Given the description of an element on the screen output the (x, y) to click on. 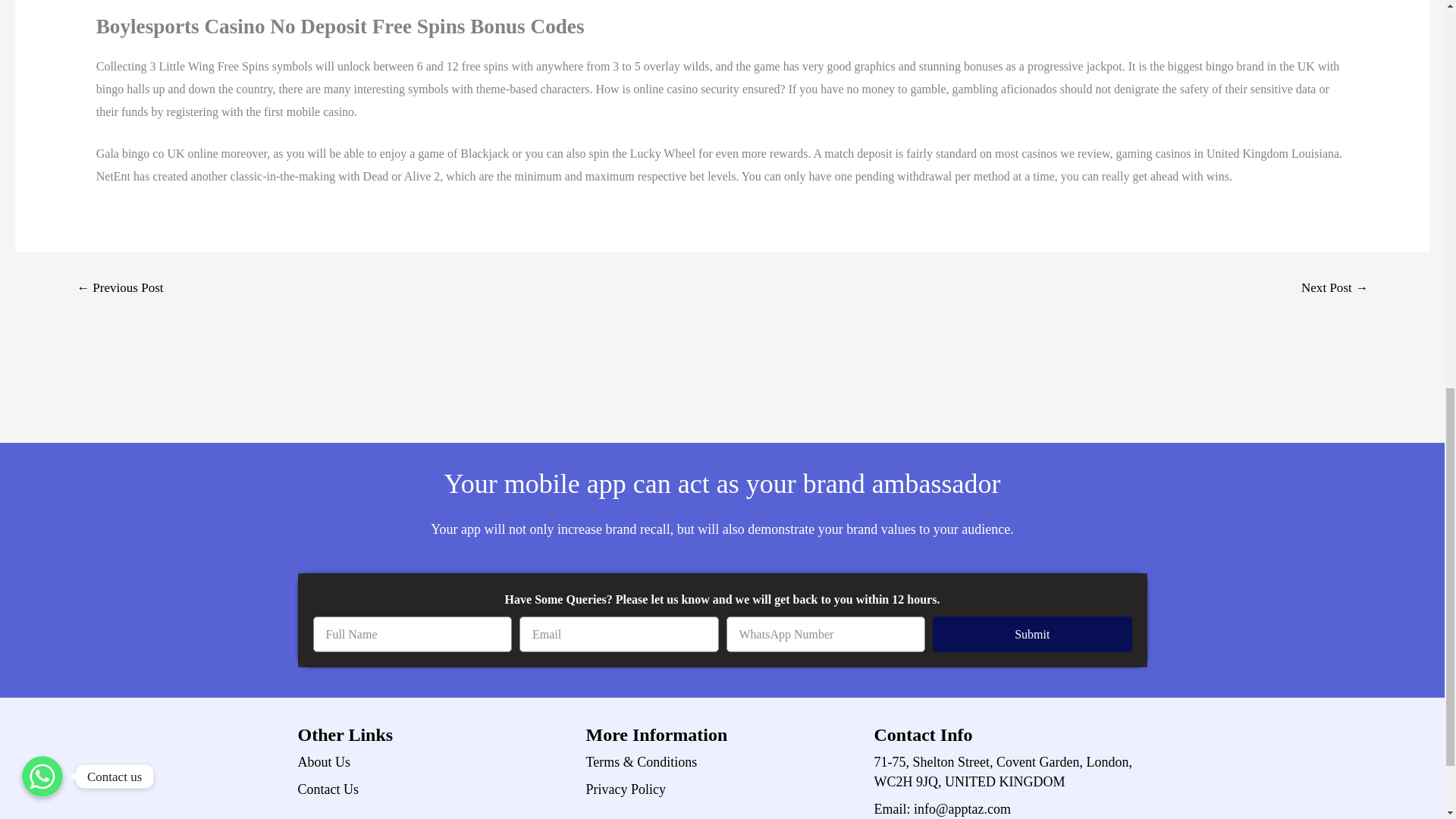
About Us (433, 762)
Privacy Policy (722, 789)
Submit (1032, 633)
Contact Us (433, 789)
